Given the description of an element on the screen output the (x, y) to click on. 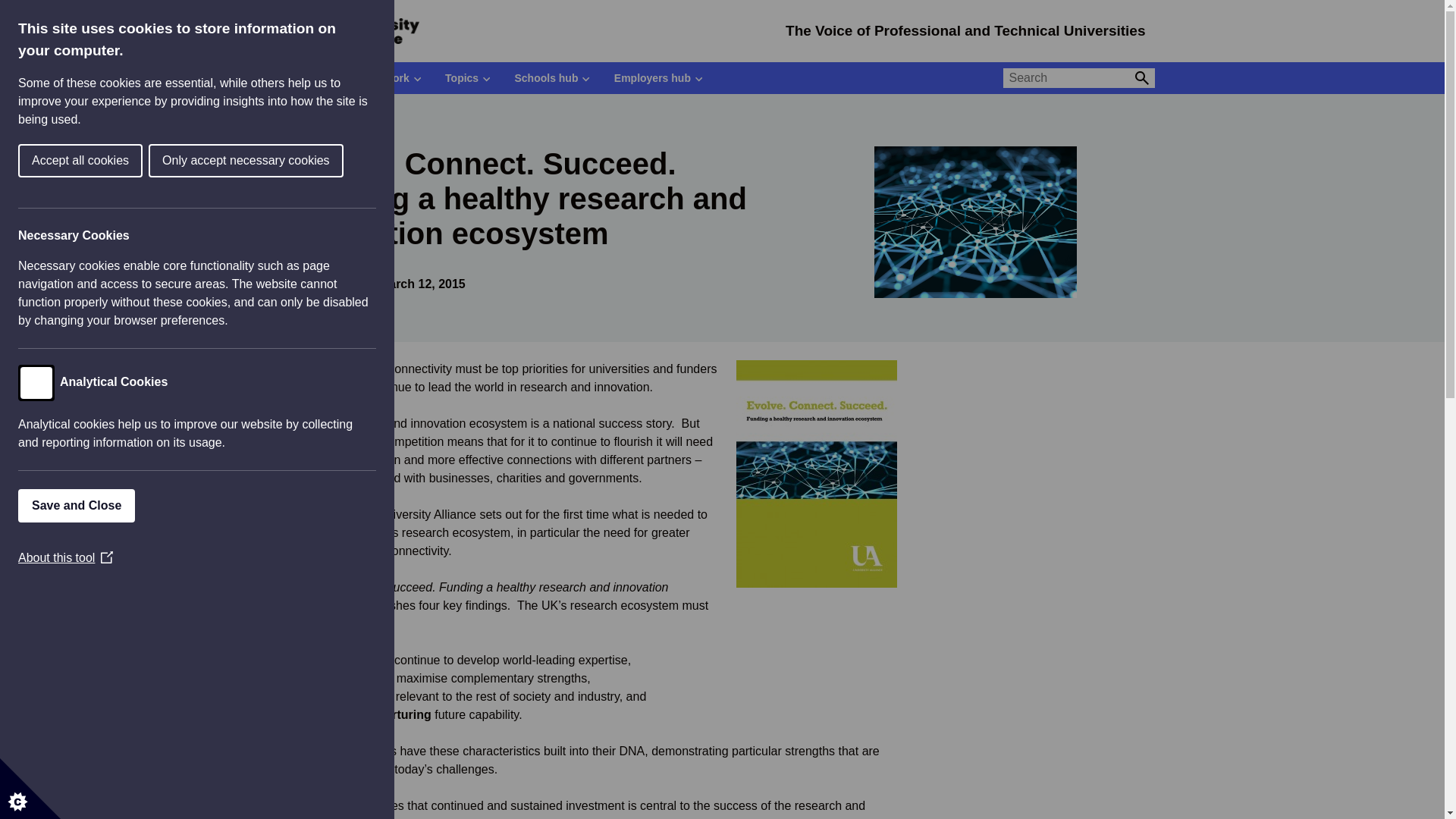
Go to University Alliance. (303, 119)
About (316, 78)
Only accept necessary cookies (36, 160)
Our work (391, 78)
Topics (467, 78)
